Given the description of an element on the screen output the (x, y) to click on. 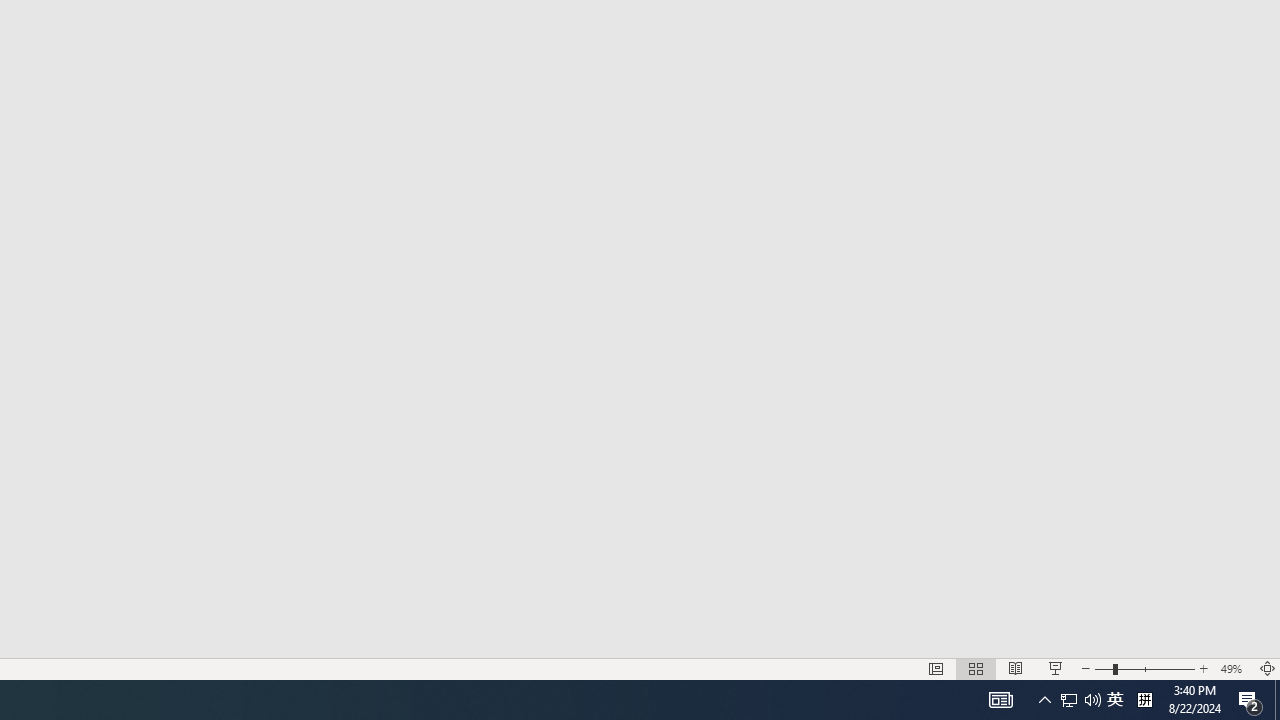
Zoom 49% (1234, 668)
